Given the description of an element on the screen output the (x, y) to click on. 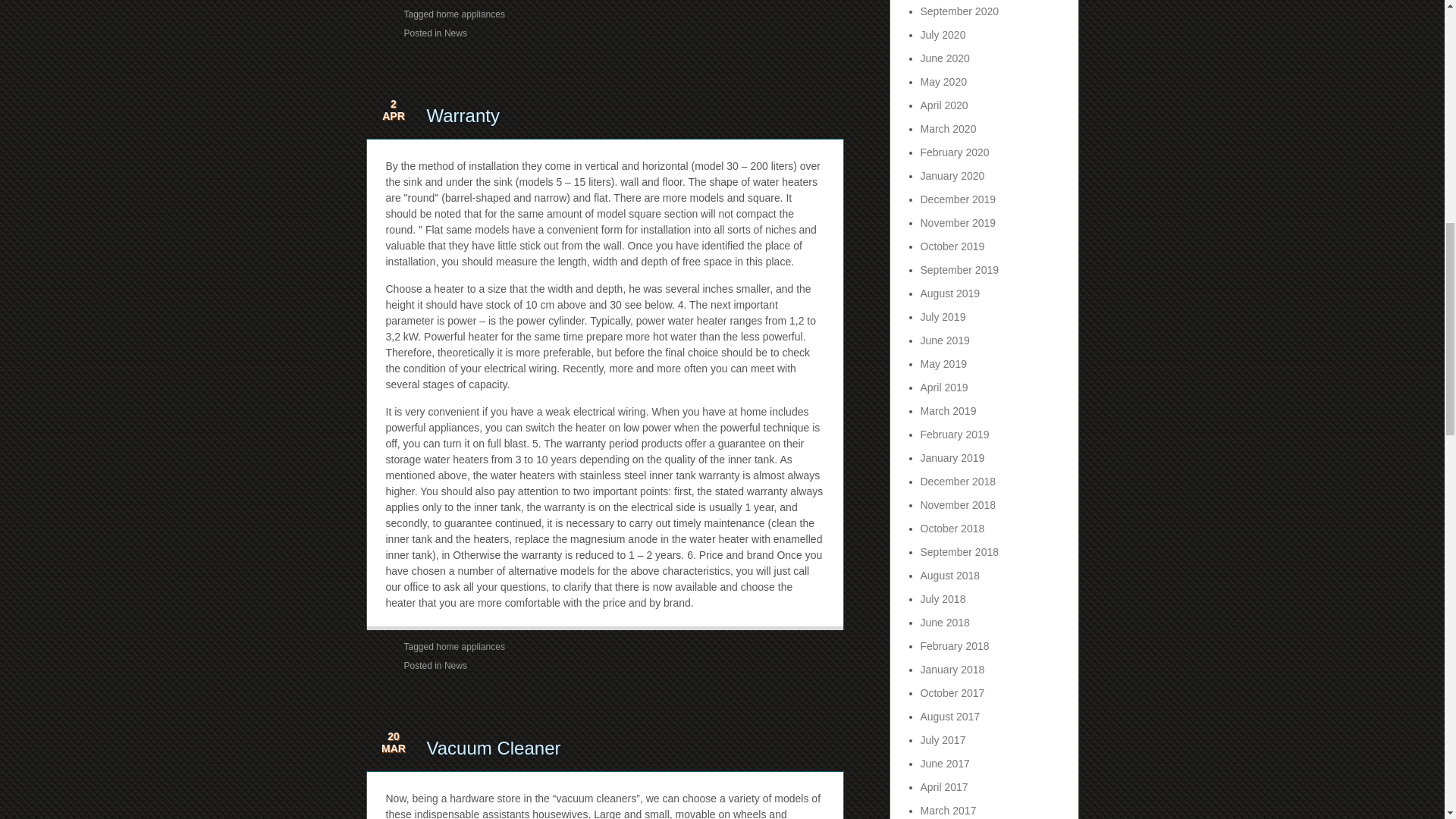
January 2020 (952, 175)
home appliances (470, 646)
September 2020 (959, 10)
News (455, 665)
October 2019 (952, 246)
Permalink to Warranty (462, 115)
News (455, 32)
April 2, 2012 (393, 113)
June 2020 (944, 58)
Vacuum Cleaner (493, 747)
